Given the description of an element on the screen output the (x, y) to click on. 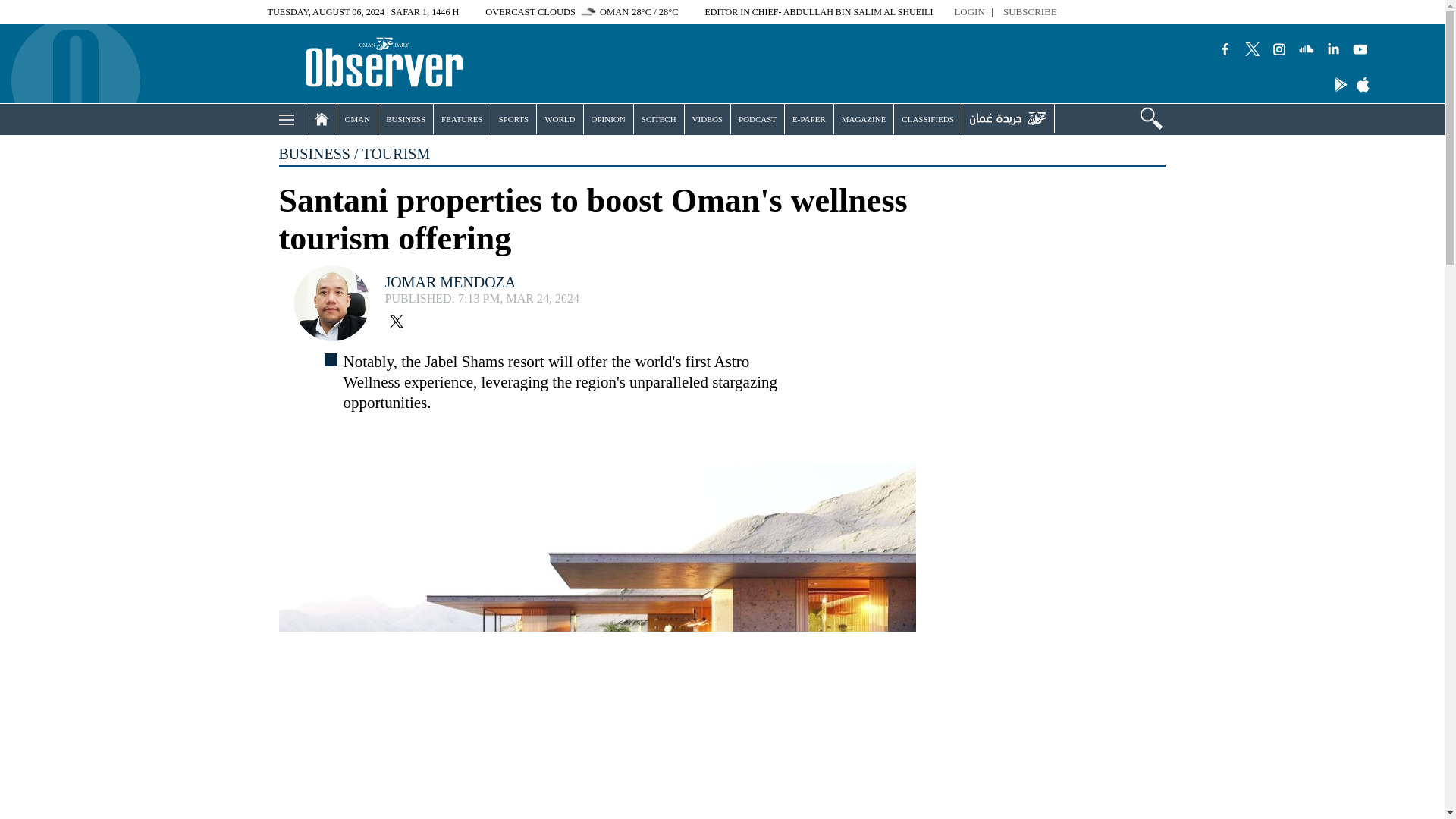
SCITECH (658, 119)
OMAN (356, 119)
BUSINESS (405, 119)
FEATURES (461, 119)
OPINION (608, 119)
OMAN (356, 119)
SCITECH (658, 119)
VIDEOS (707, 119)
E-PAPER (808, 119)
MAGAZINE (863, 119)
Oman Observer (363, 63)
SPORTS (514, 119)
Subscribe (1029, 12)
BUSINESS (405, 119)
FEATURES (461, 119)
